Given the description of an element on the screen output the (x, y) to click on. 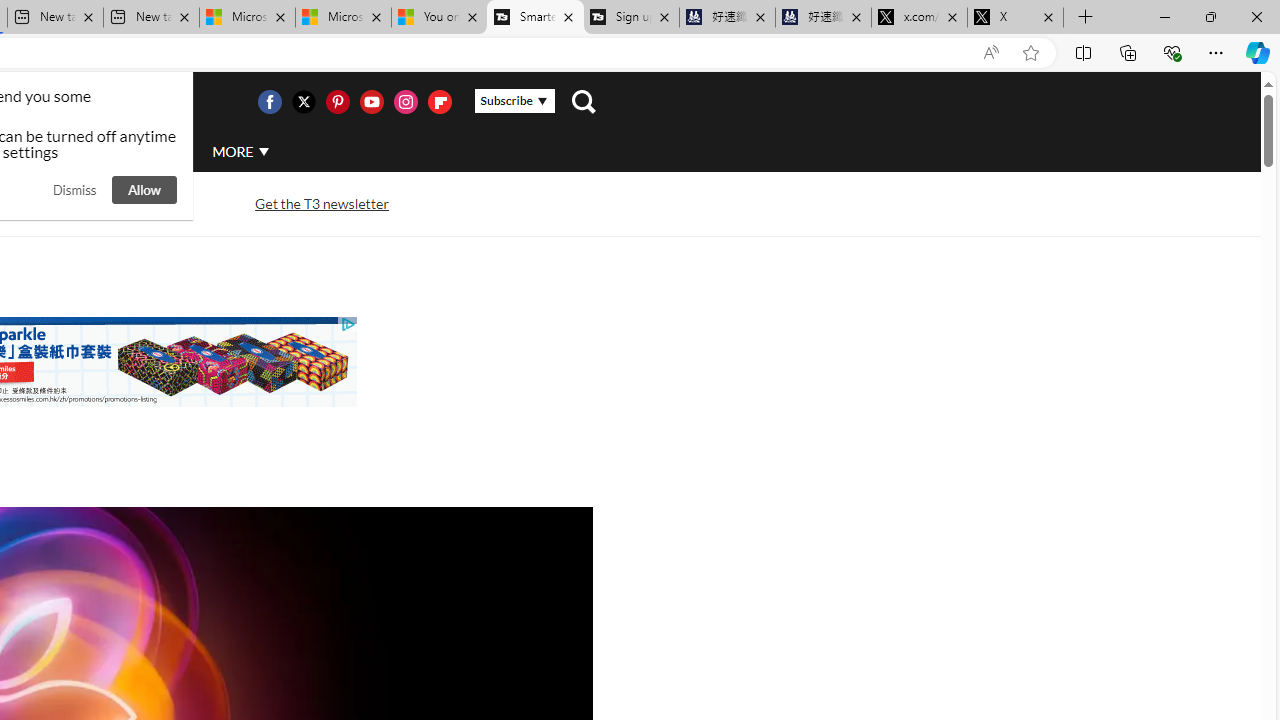
Class: icon-svg (439, 101)
Streaming TV and movies (105, 202)
Streaming TV and movies (105, 204)
Smarter Living | T3 (534, 17)
MORE  (239, 151)
LUXURY (66, 151)
flag of UK (44, 102)
